Given the description of an element on the screen output the (x, y) to click on. 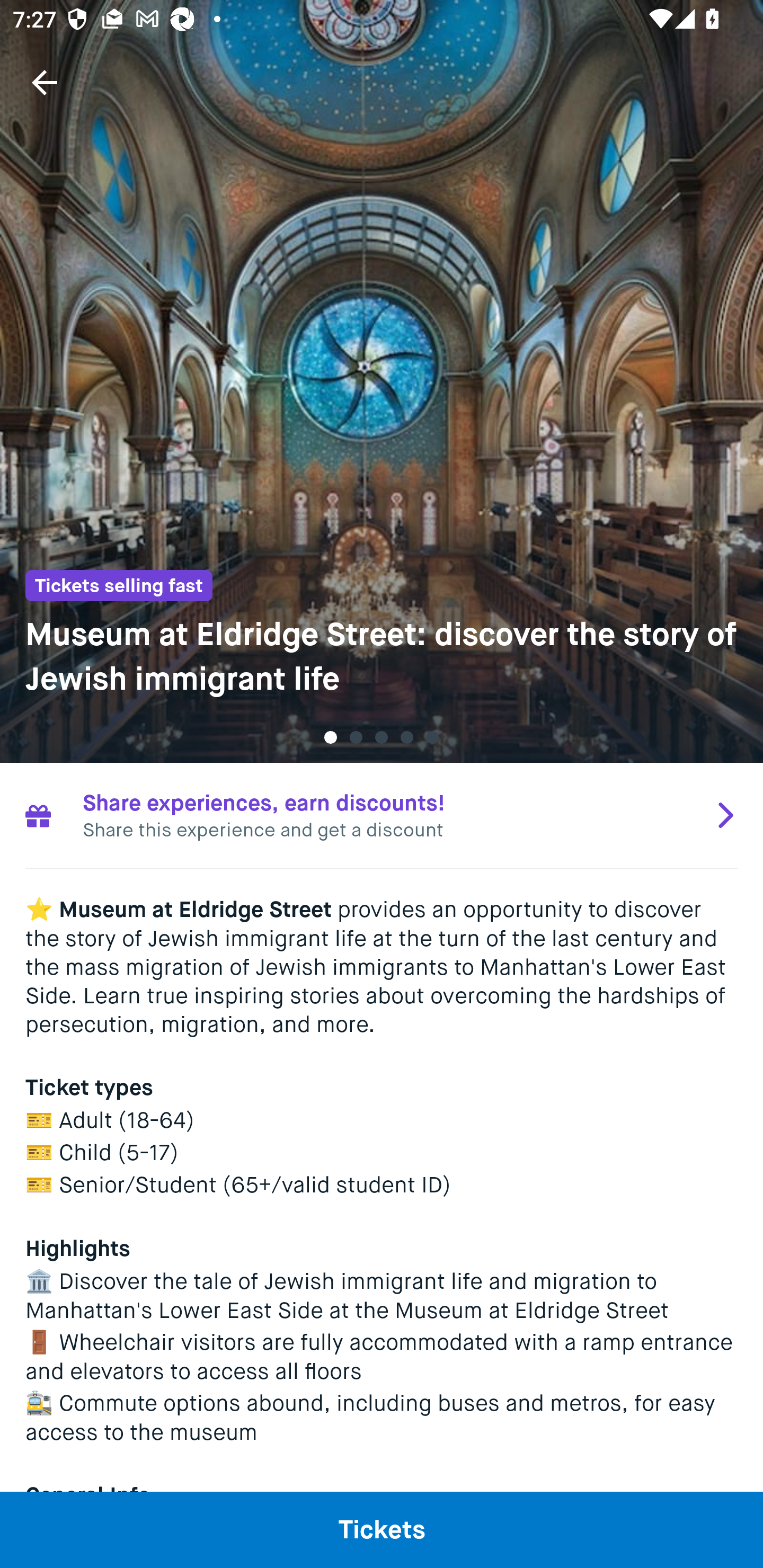
Navigate up (44, 82)
Tickets (381, 1529)
